Given the description of an element on the screen output the (x, y) to click on. 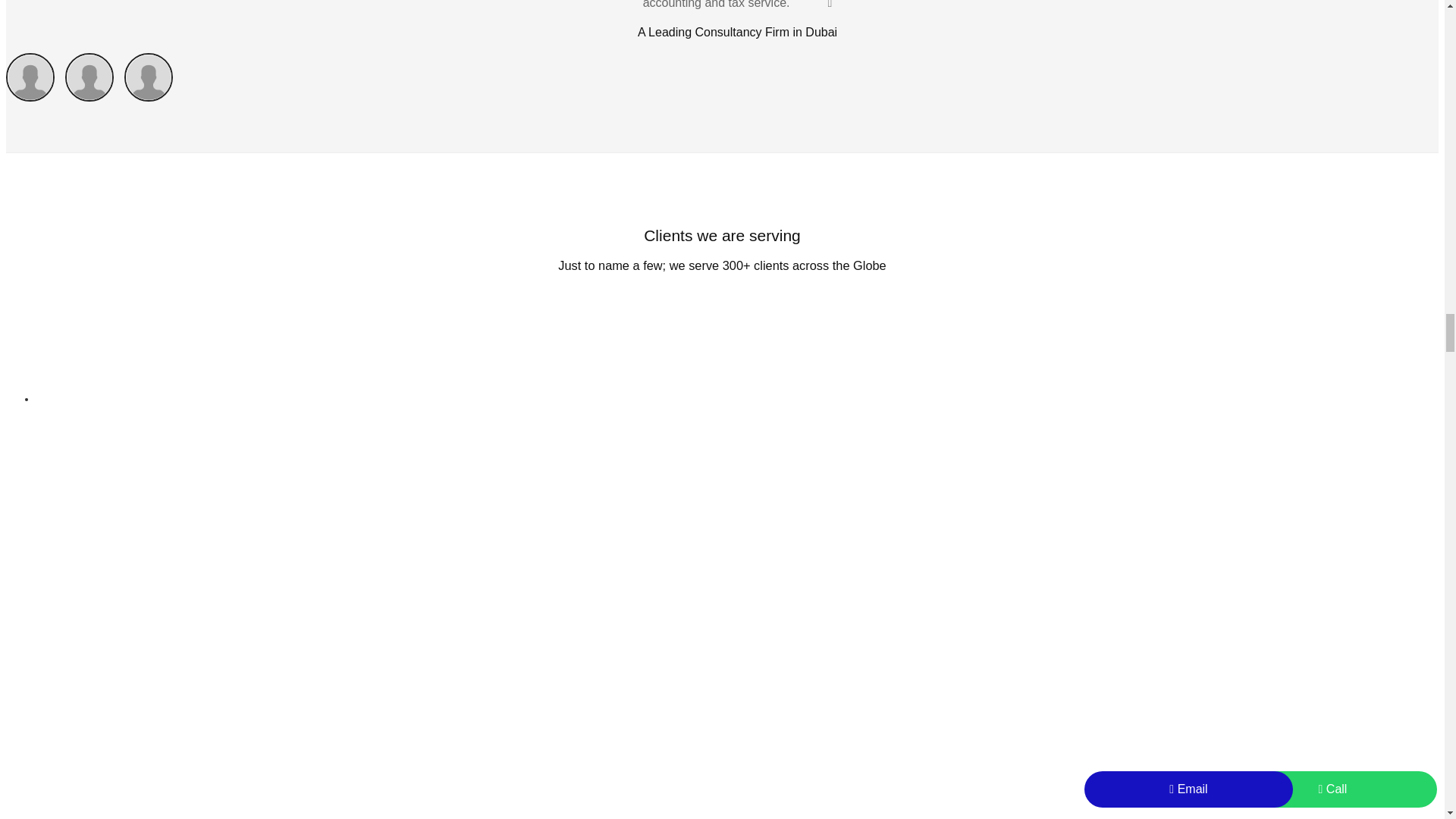
A Leading Service Provider (92, 97)
A US consultancy group (33, 97)
A Leading Consultancy Firm in Dubai (151, 97)
